Given the description of an element on the screen output the (x, y) to click on. 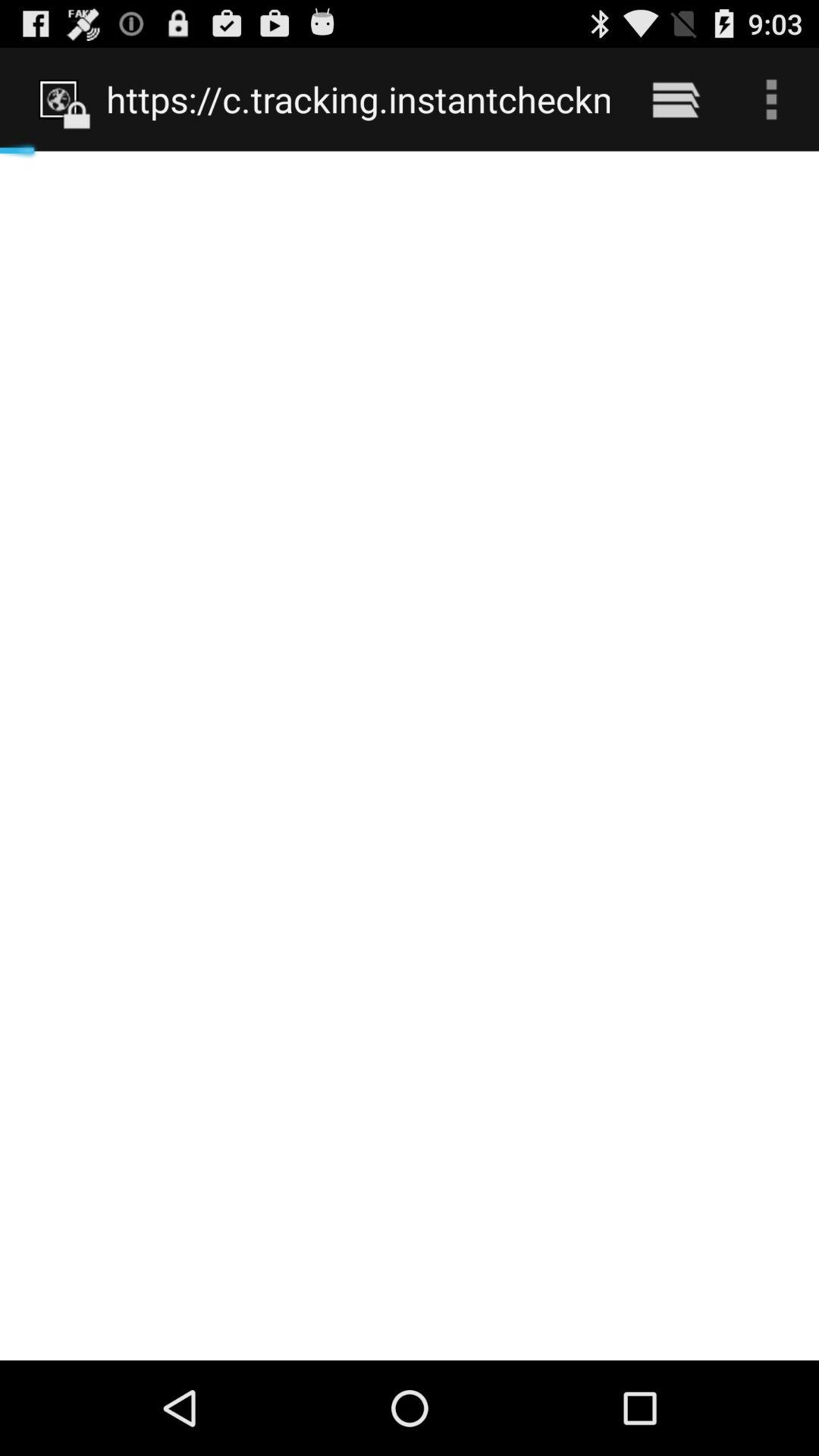
swipe to https www phone (357, 99)
